Given the description of an element on the screen output the (x, y) to click on. 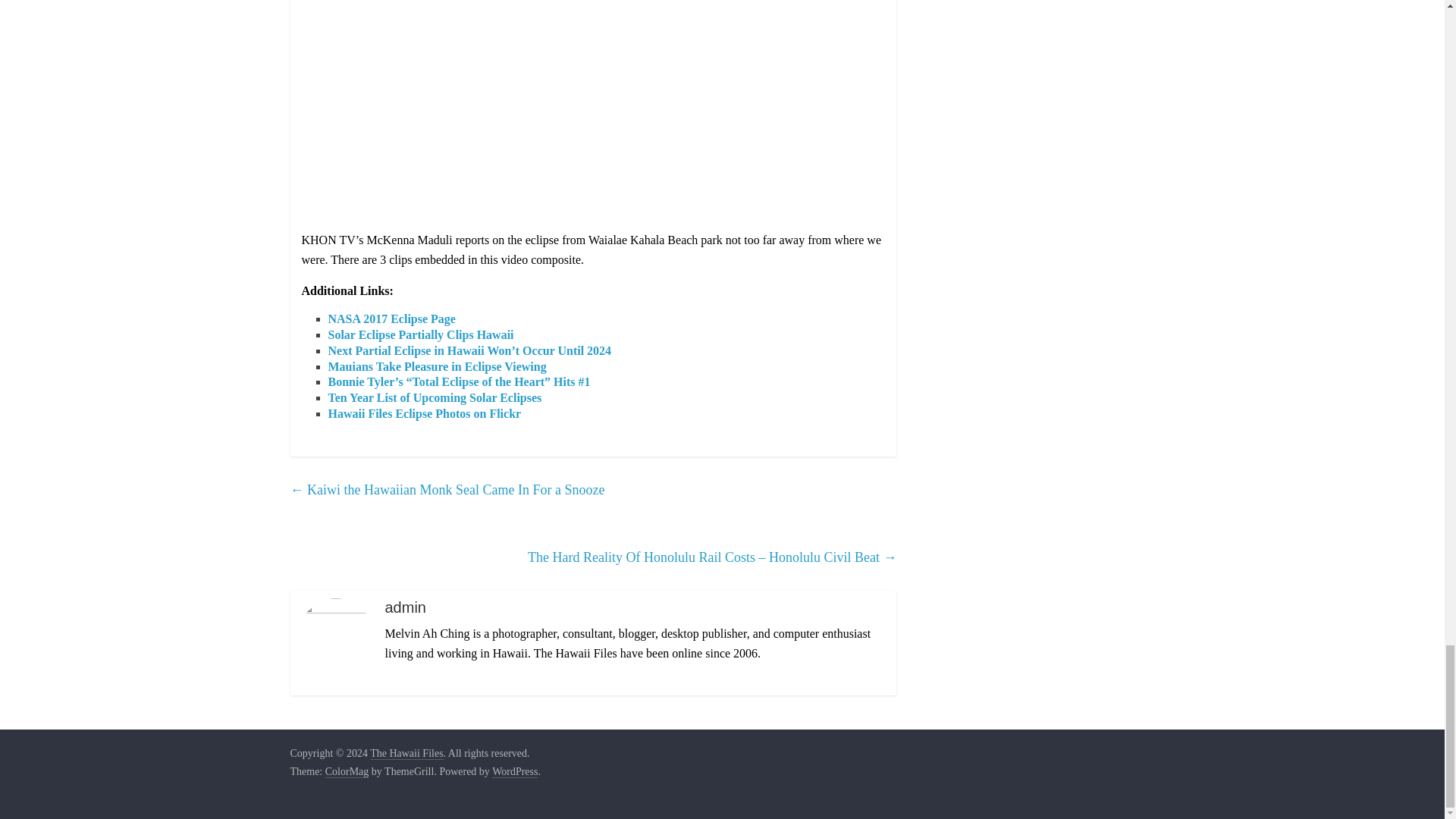
WordPress (514, 771)
The Hawaii Files (405, 753)
ColorMag (346, 771)
